Given the description of an element on the screen output the (x, y) to click on. 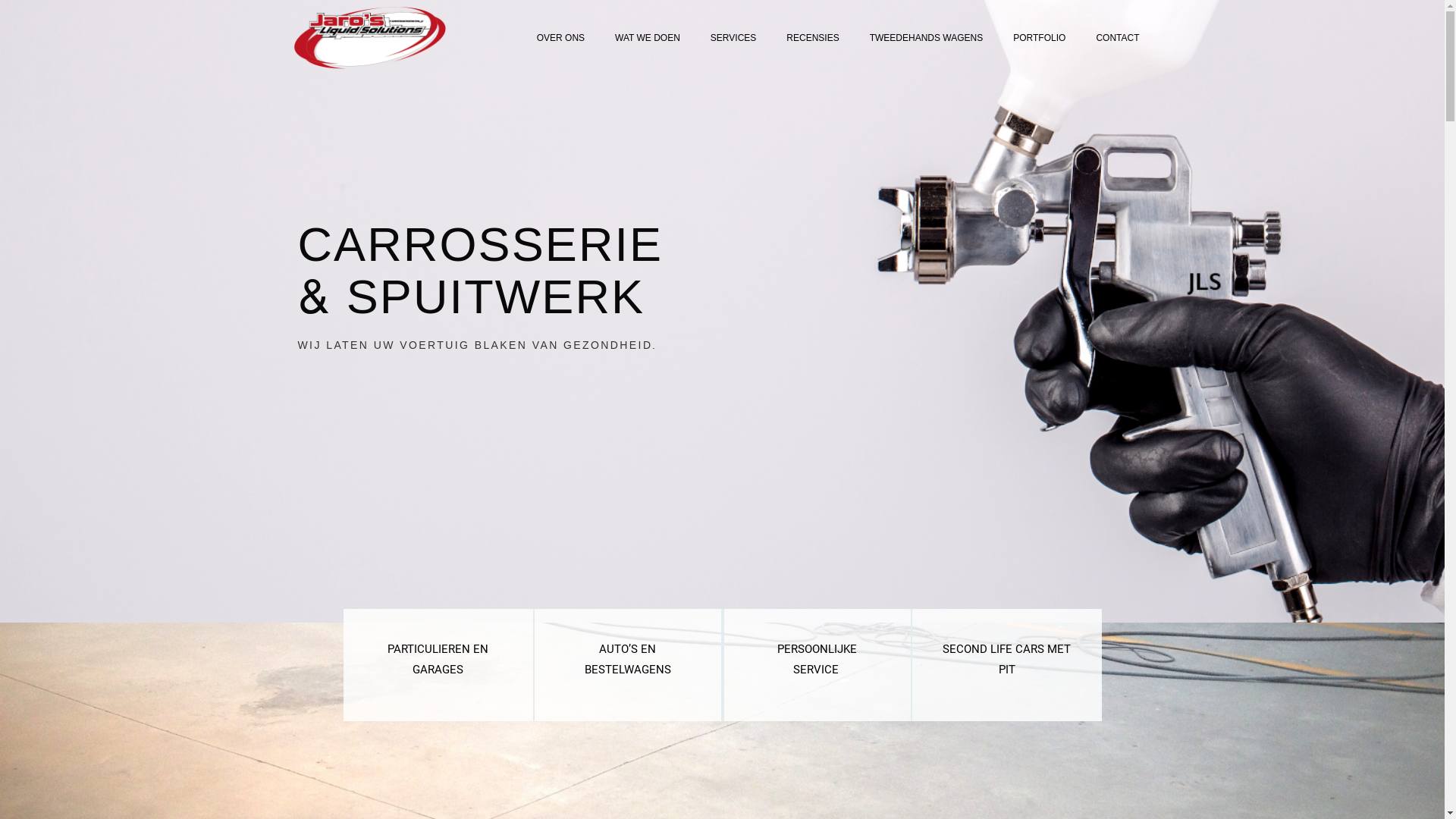
TWEEDEHANDS WAGENS Element type: text (926, 37)
OVER ONS Element type: text (560, 37)
RECENSIES Element type: text (812, 37)
WAT WE DOEN Element type: text (647, 37)
SERVICES Element type: text (733, 37)
CONTACT Element type: text (1117, 37)
PORTFOLIO Element type: text (1038, 37)
